Given the description of an element on the screen output the (x, y) to click on. 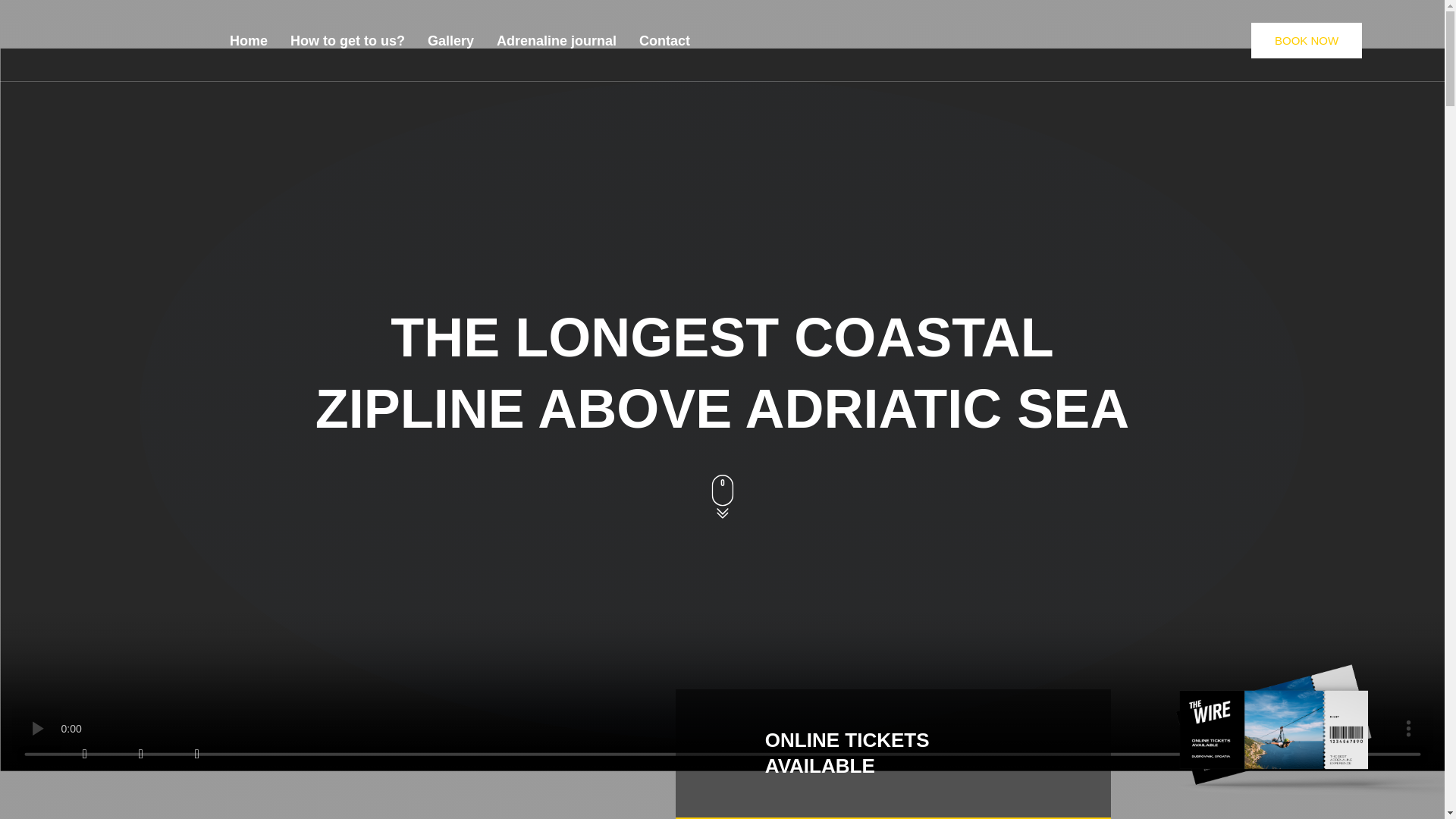
How to get to us? (347, 40)
Instagram (141, 754)
Adrenaline journal (555, 40)
Gallery (450, 40)
Youtube (196, 754)
ONLINE TICKETS AVAILABLE (847, 752)
Home (248, 40)
BOOK NOW (1305, 40)
Contact (664, 40)
Facebook (84, 754)
